Given the description of an element on the screen output the (x, y) to click on. 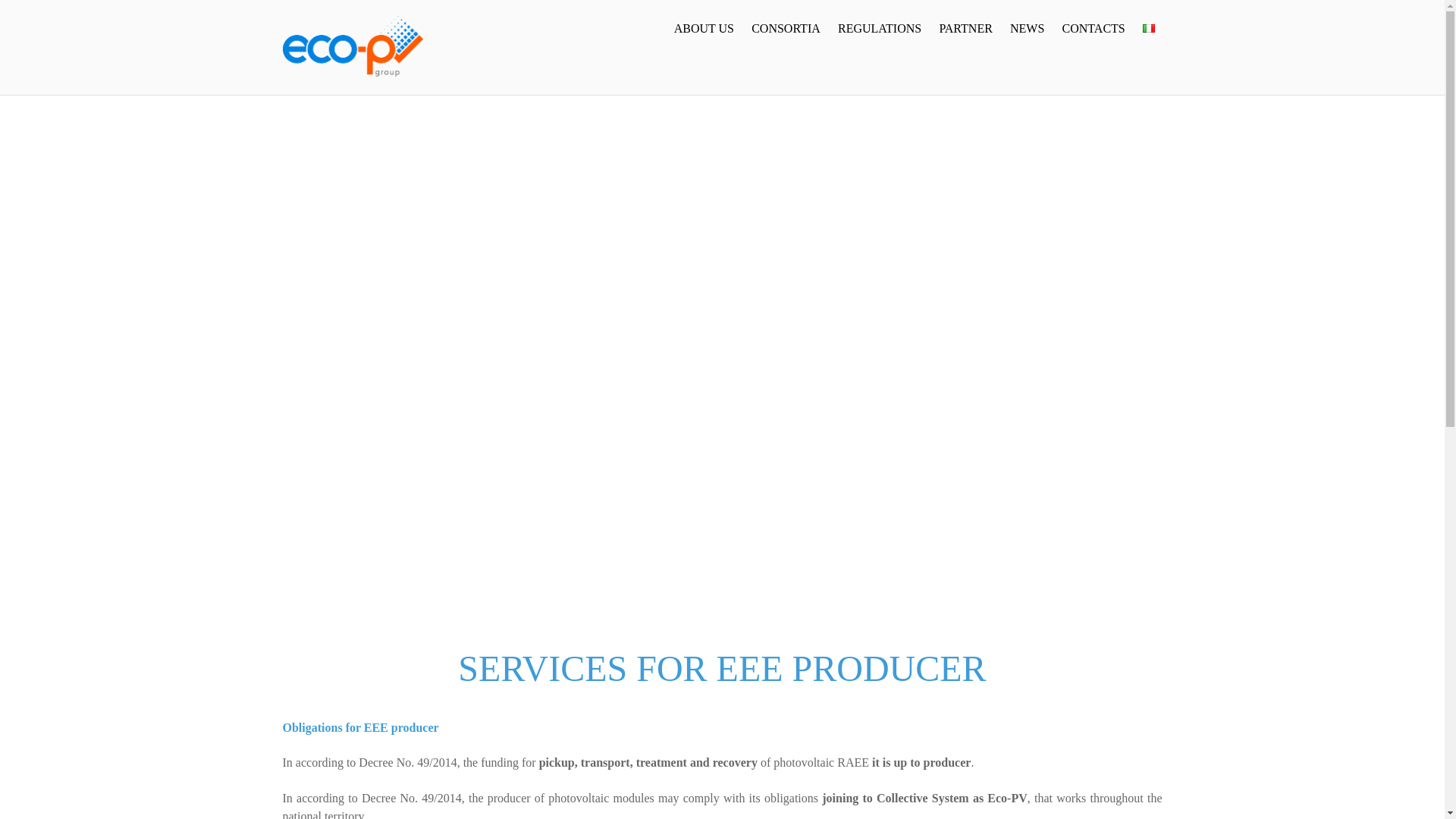
CONTACTS (1093, 28)
REGULATIONS (878, 28)
ABOUT US (703, 28)
PARTNER (965, 28)
ECO-PV (352, 45)
CONSORTIA (786, 28)
ECO-PV (352, 68)
NEWS (1027, 28)
